Given the description of an element on the screen output the (x, y) to click on. 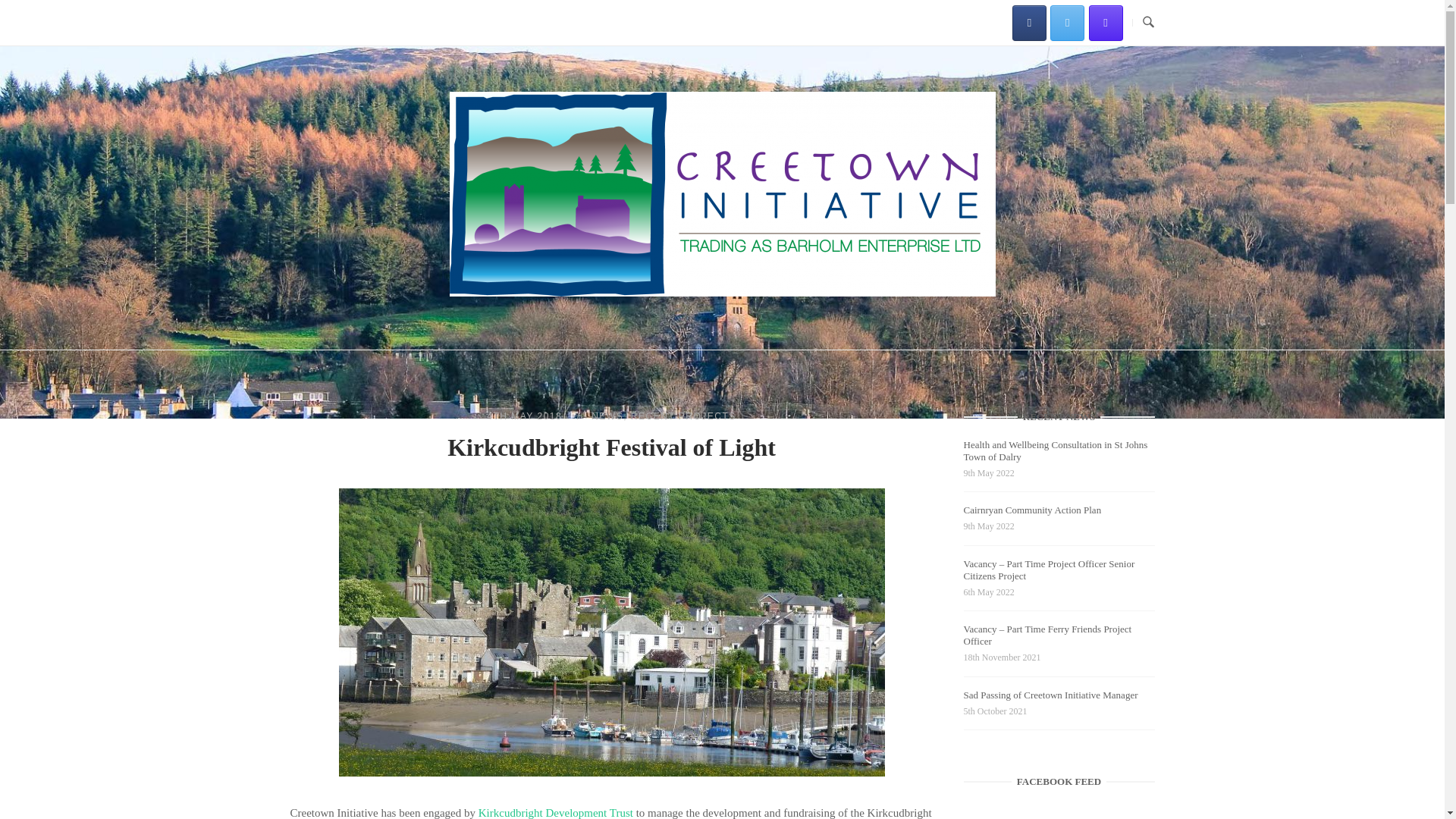
RECENT PROJECTS (683, 416)
Home (721, 292)
NEWS (607, 416)
Creetown Initiative on X Twitter (1066, 22)
Creetown Initiative on Vimeo Square (1105, 22)
Creetown Initiative on Facebook (1028, 22)
Kirkcudbright Development Trust (556, 812)
